Given the description of an element on the screen output the (x, y) to click on. 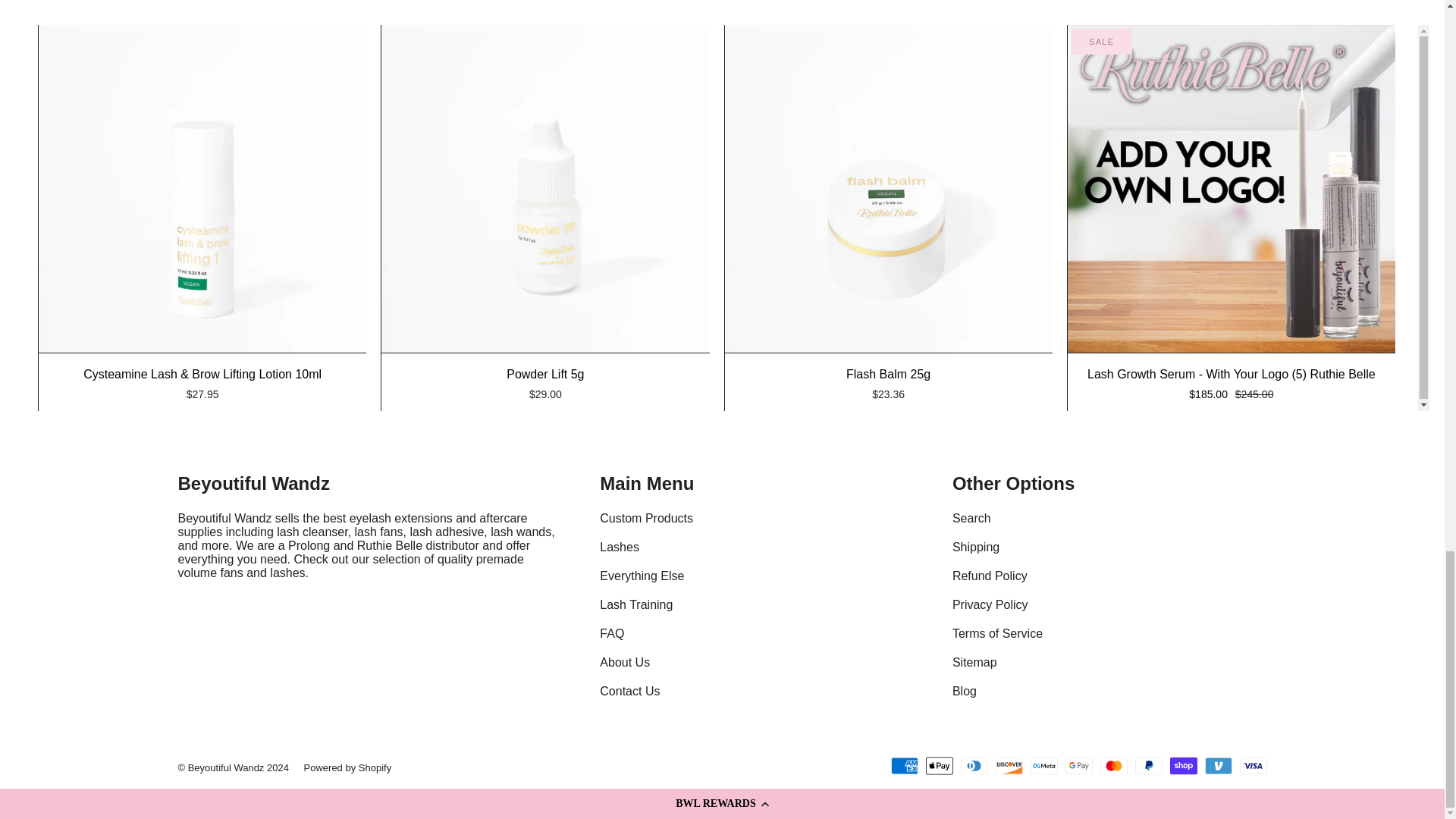
Diners Club (973, 765)
Apple Pay (938, 765)
Discover (1008, 765)
American Express (903, 765)
